Given the description of an element on the screen output the (x, y) to click on. 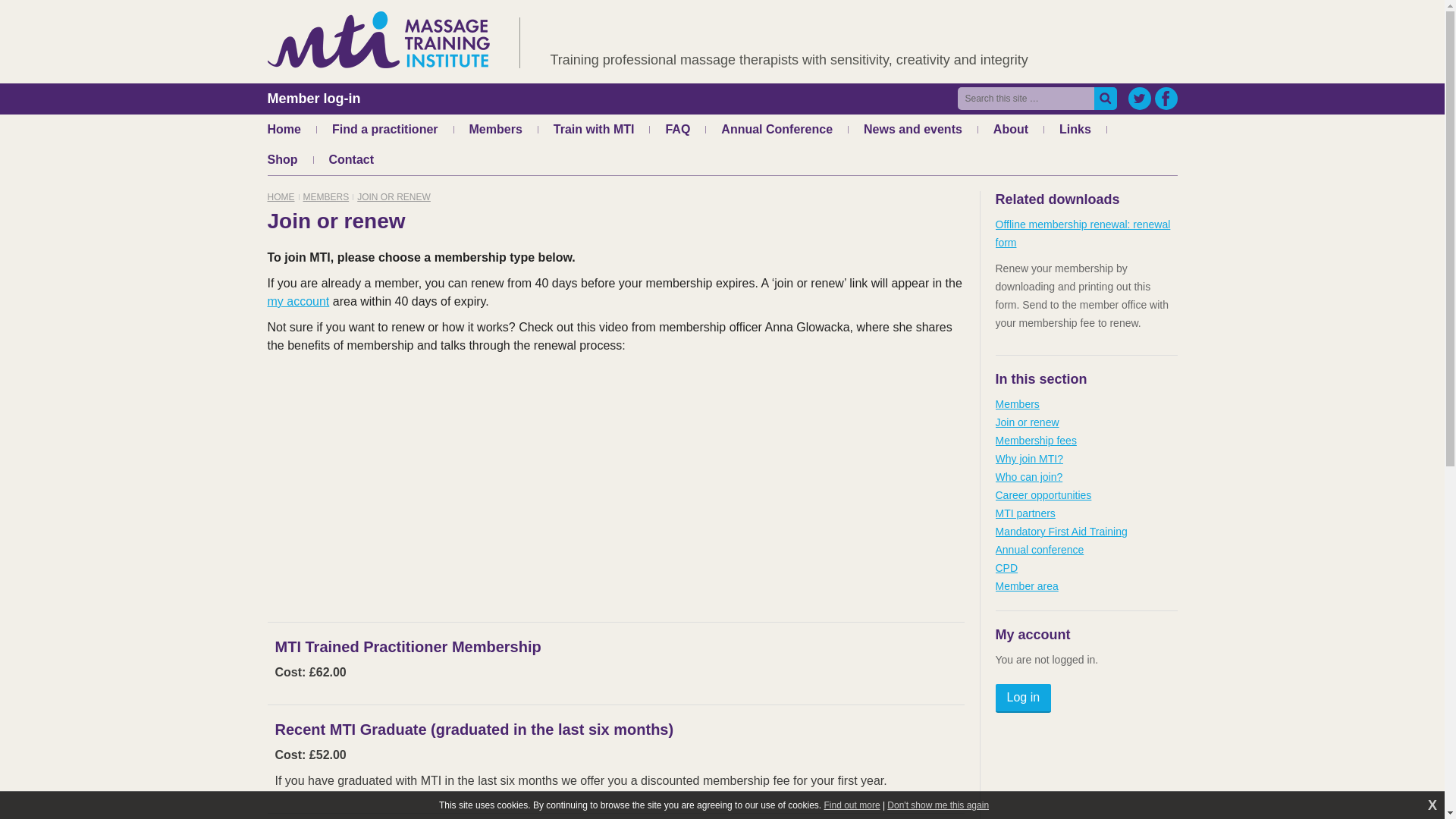
Find a practitioner (384, 129)
Annual Conference (776, 129)
Home (282, 129)
Members (495, 129)
Member log-in (312, 98)
Train with MTI (593, 129)
